Given the description of an element on the screen output the (x, y) to click on. 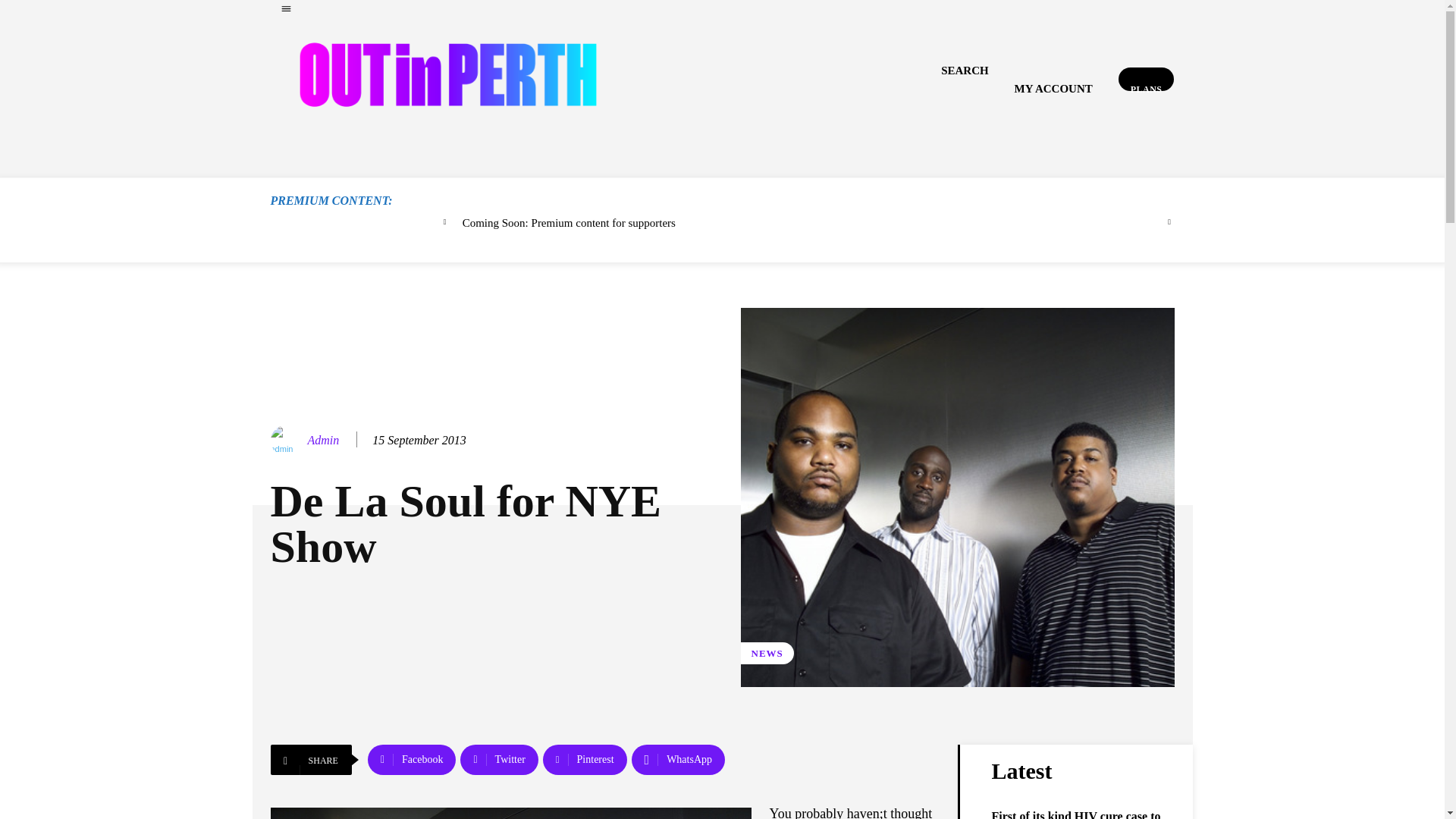
OUTinPERTH (447, 74)
Plans (1146, 78)
